Given the description of an element on the screen output the (x, y) to click on. 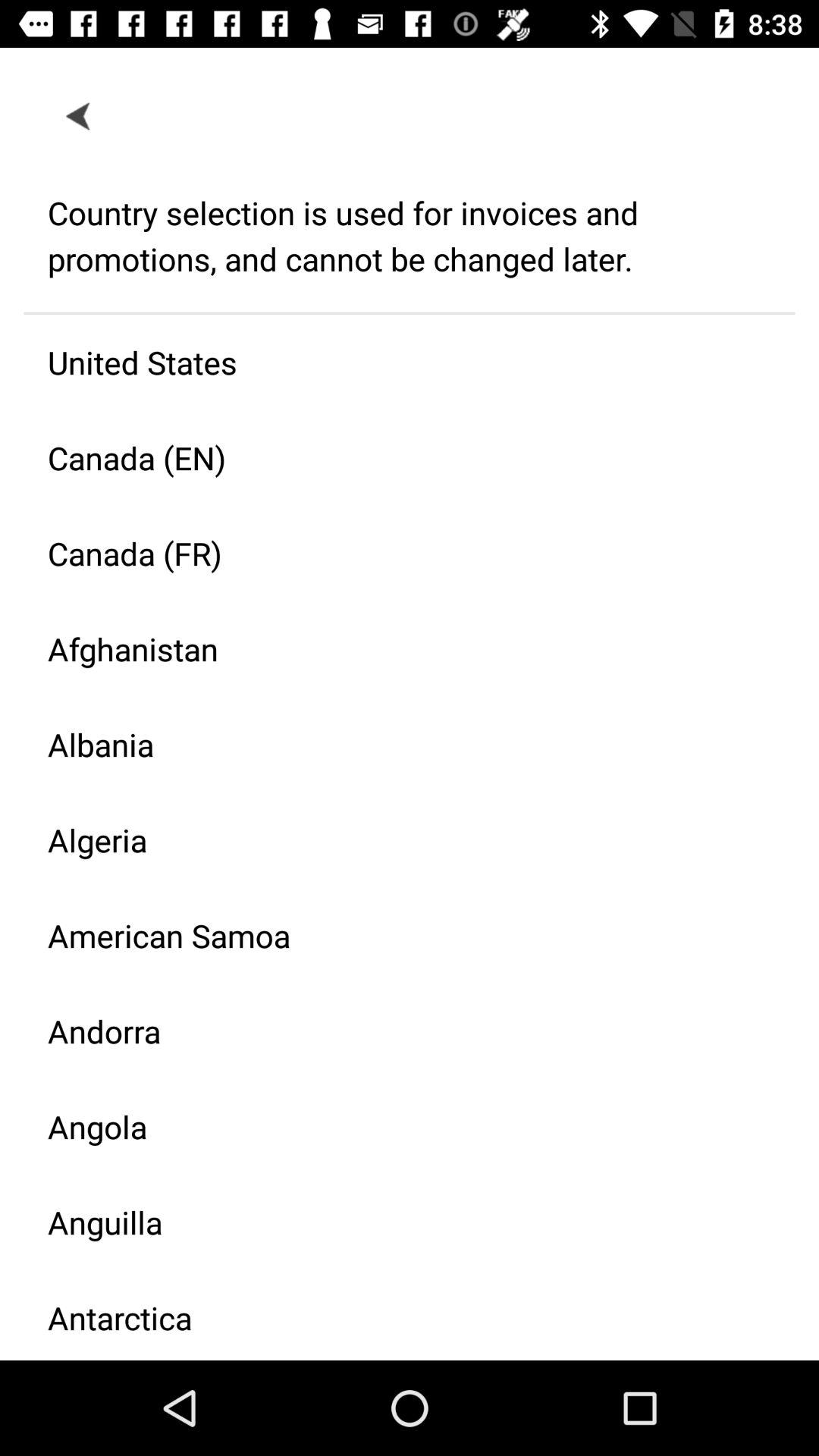
open icon above the country selection is icon (79, 115)
